Given the description of an element on the screen output the (x, y) to click on. 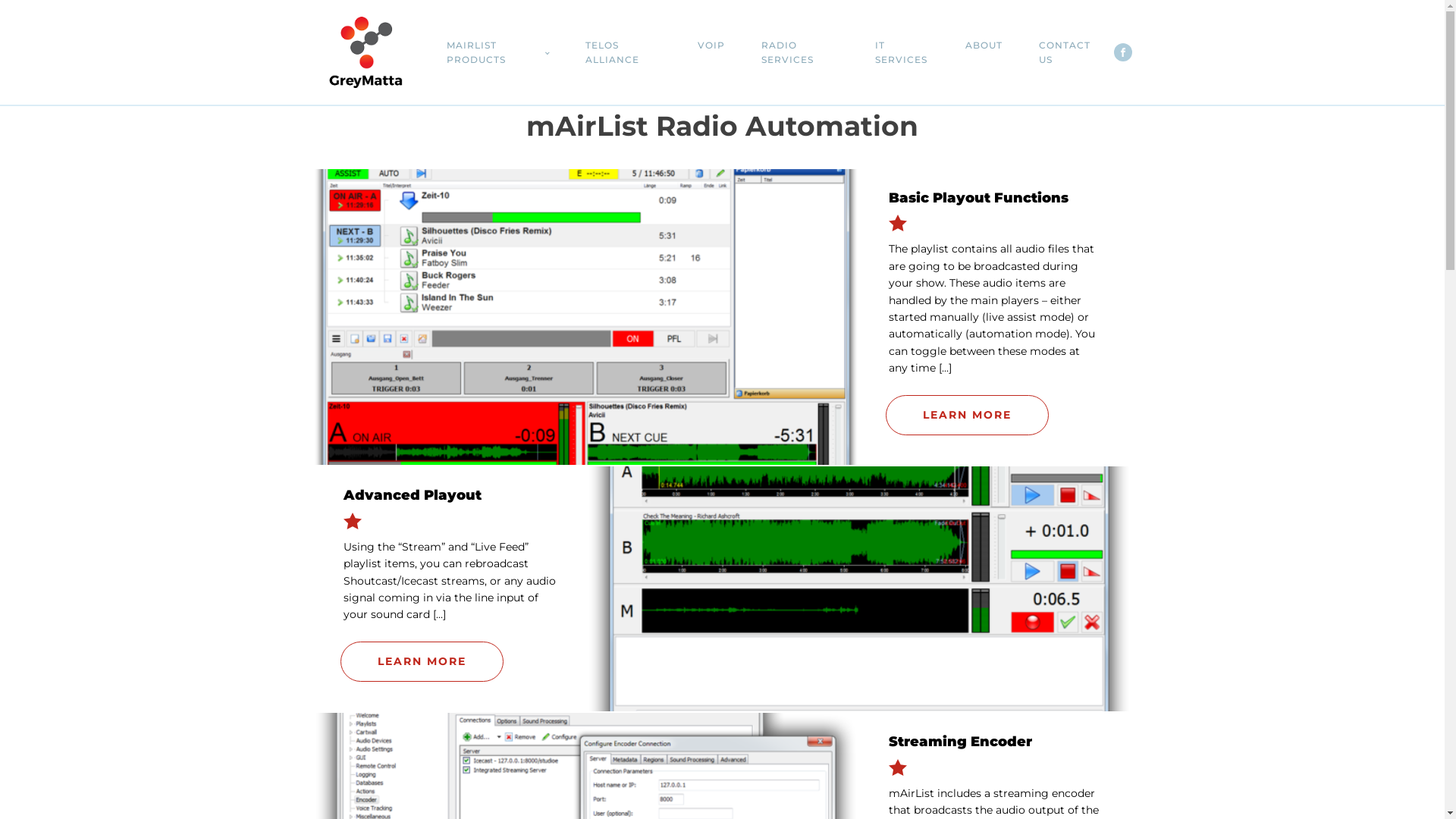
CONTACT US Element type: text (1066, 51)
VOIP Element type: text (711, 44)
LEARN MORE Element type: text (420, 661)
LEARN MORE Element type: text (966, 415)
RADIO SERVICES Element type: text (799, 51)
TELOS ALLIANCE Element type: text (623, 51)
IT SERVICES Element type: text (901, 51)
ABOUT Element type: text (983, 44)
MAIRLIST PRODUCTS Element type: text (497, 51)
